Given the description of an element on the screen output the (x, y) to click on. 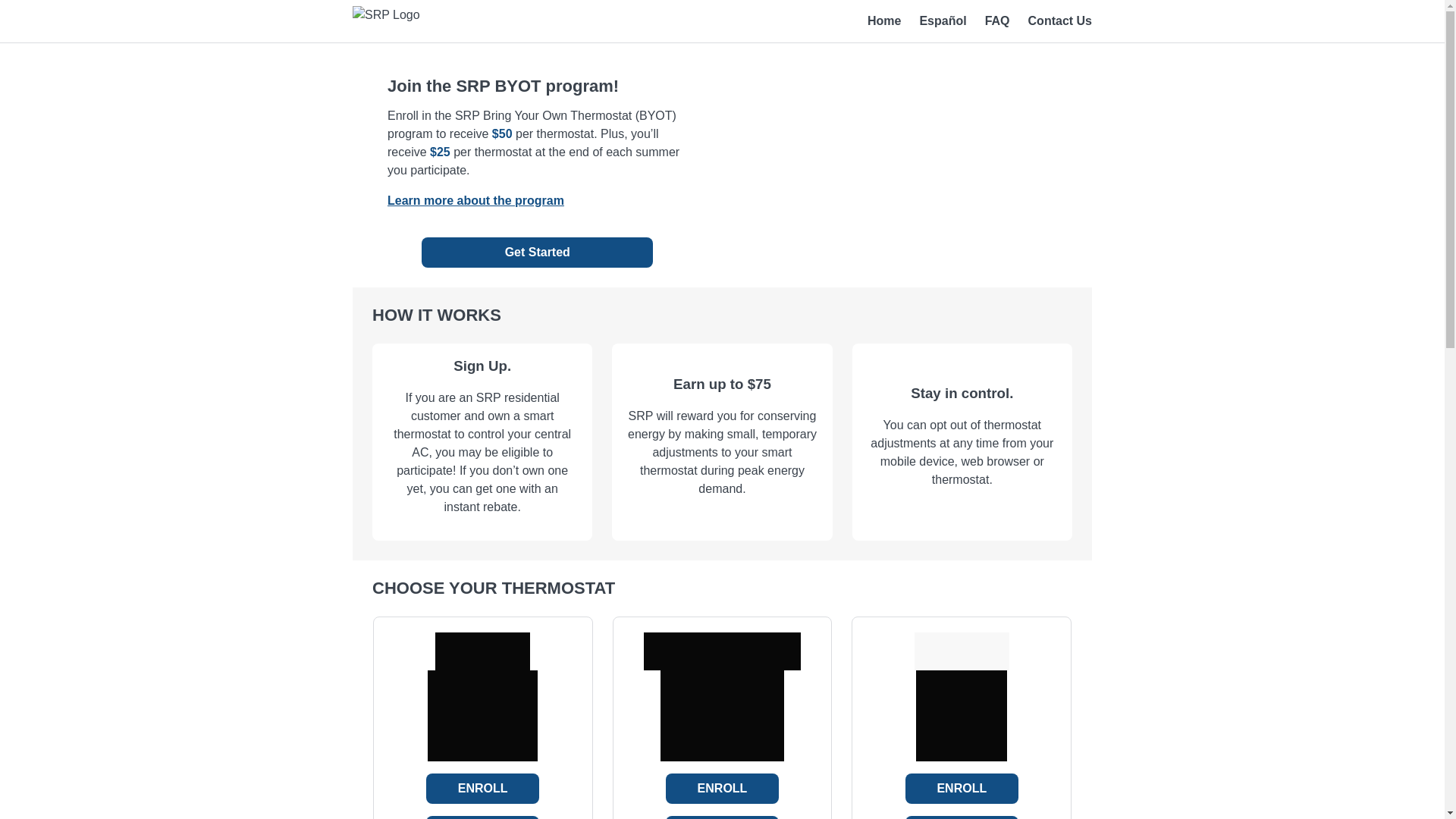
Get Started (537, 252)
BUY (961, 817)
Contact Us (1059, 20)
ENROLL (961, 788)
Learn more about the program (475, 200)
ENROLL (482, 788)
BUY (721, 817)
FAQ (997, 20)
Home (884, 20)
BUY (482, 817)
ENROLL (721, 788)
